Given the description of an element on the screen output the (x, y) to click on. 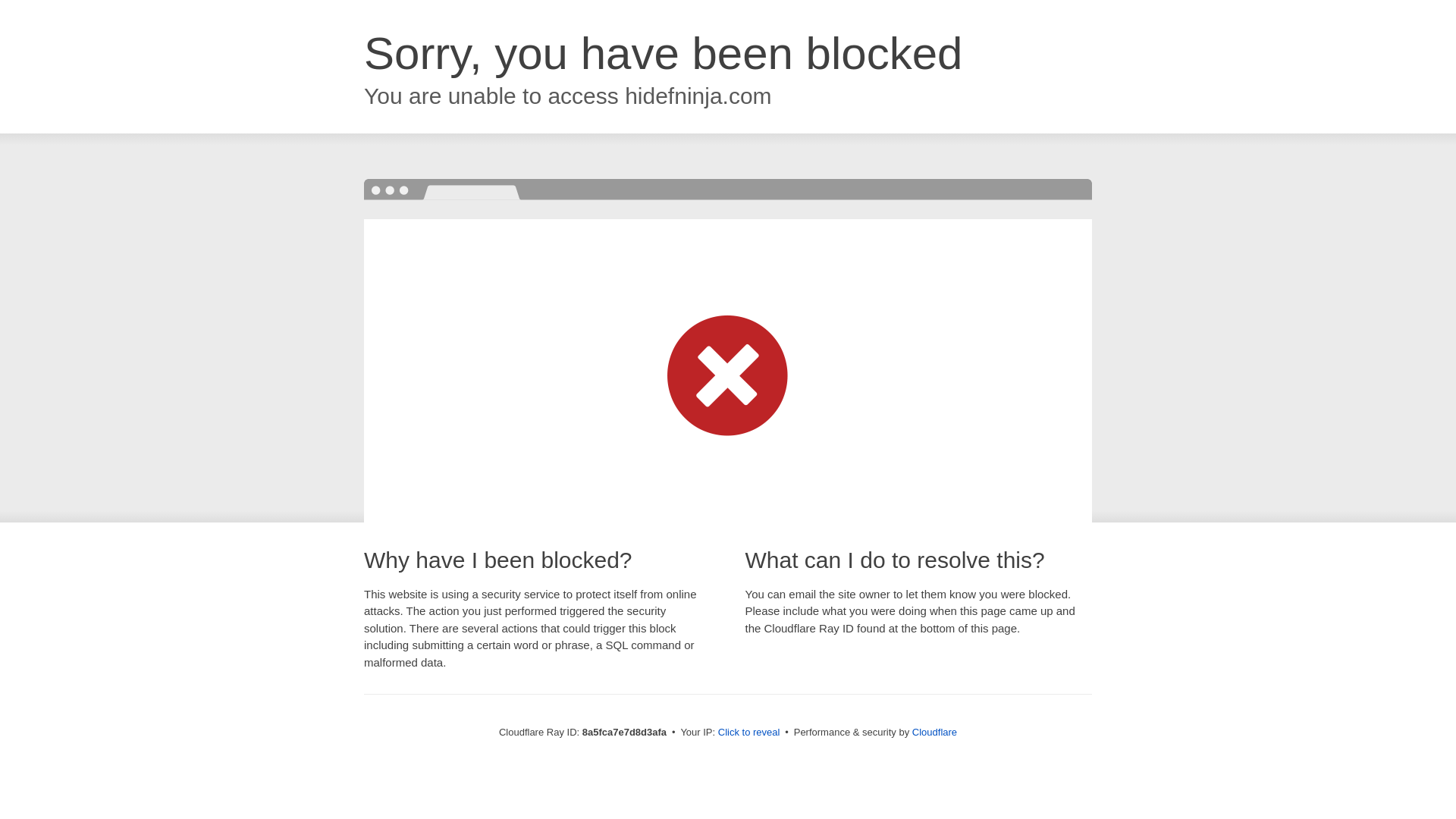
Click to reveal (748, 732)
Cloudflare (934, 731)
